Given the description of an element on the screen output the (x, y) to click on. 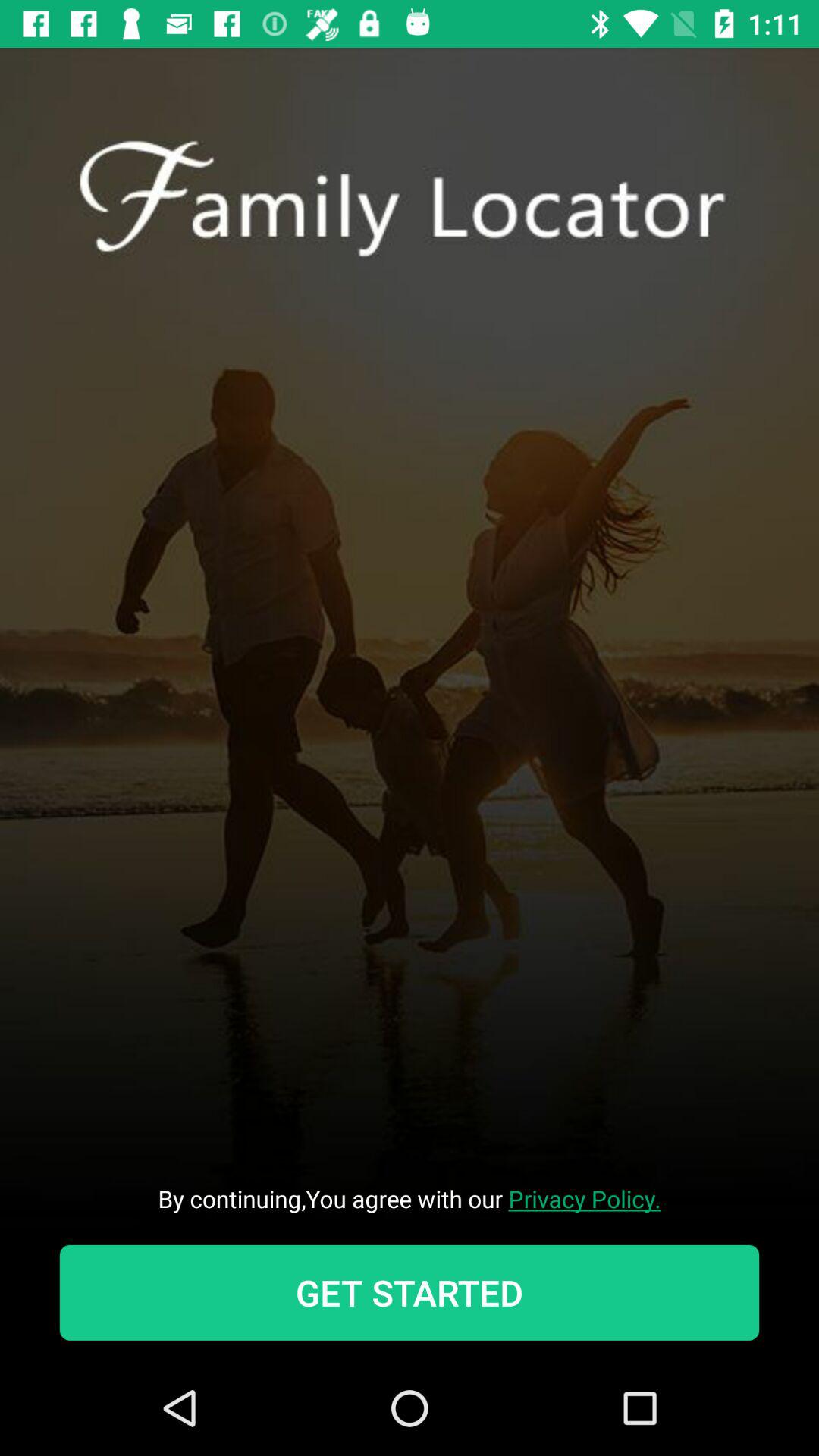
press the get started icon (409, 1292)
